Given the description of an element on the screen output the (x, y) to click on. 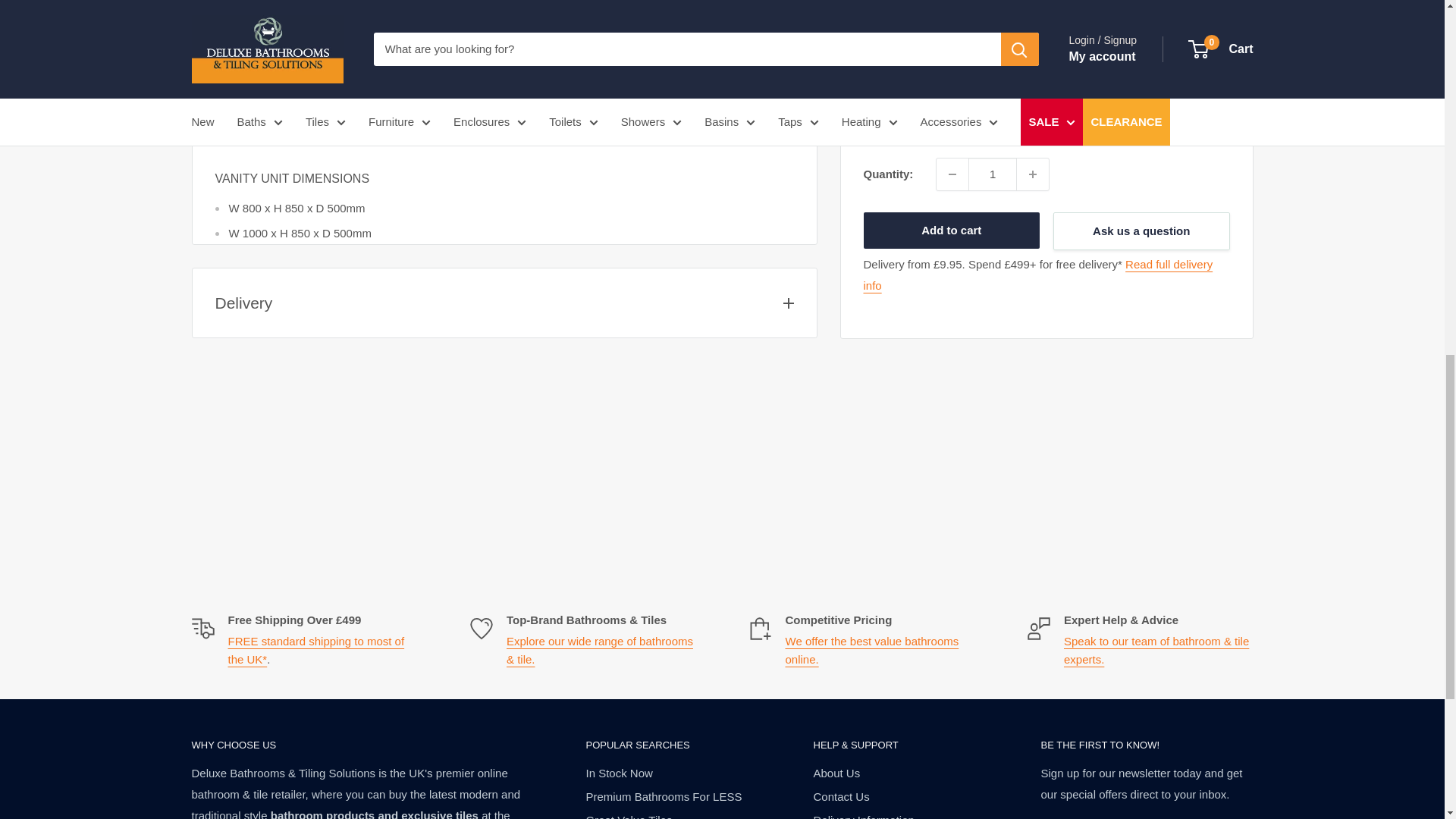
Delivery Information (315, 649)
Delivery (1037, 2)
We offer the best value bathrooms online. (872, 649)
Contact Deluxe Bathrooms (1156, 649)
